Given the description of an element on the screen output the (x, y) to click on. 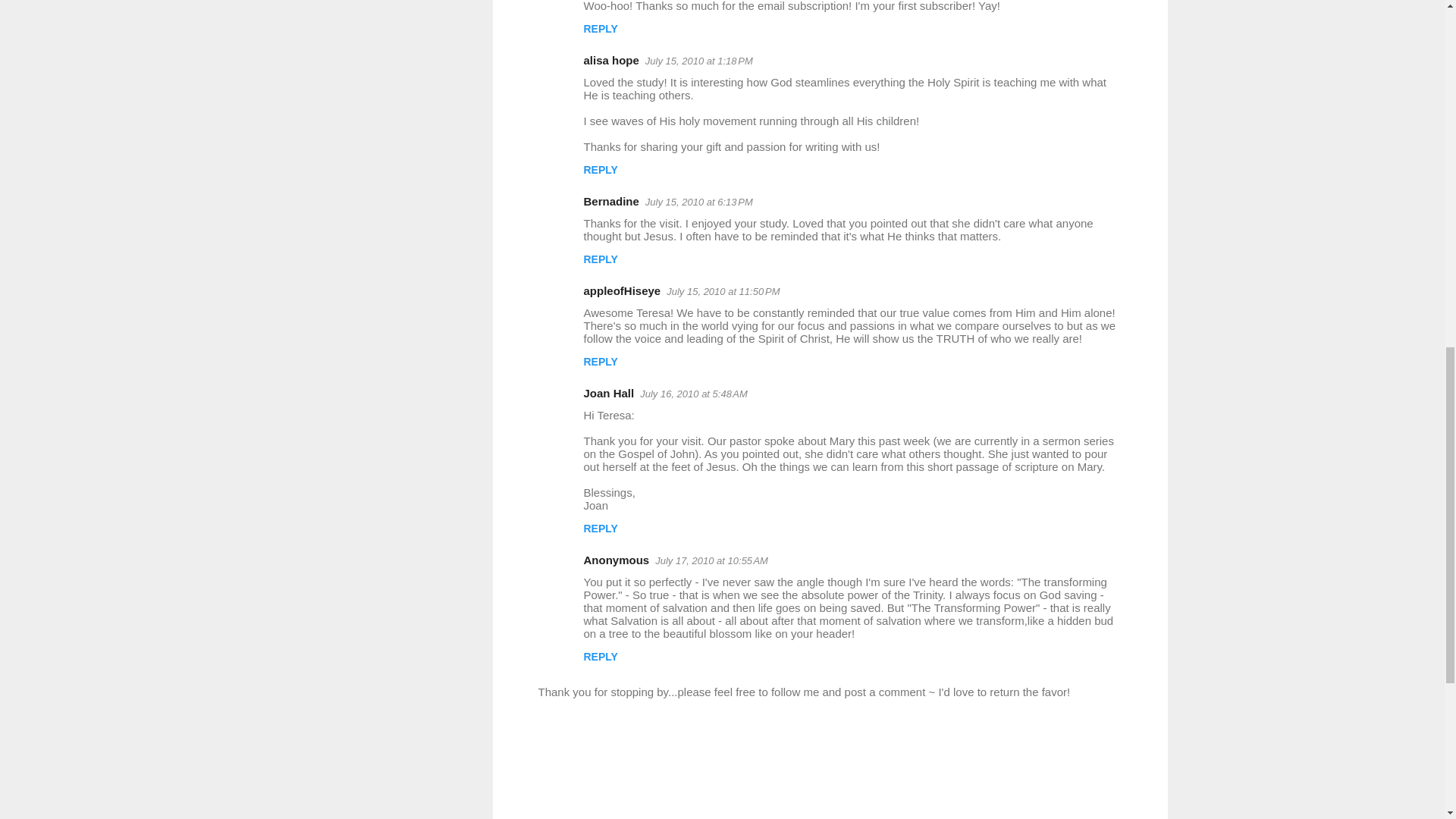
REPLY (600, 28)
REPLY (600, 169)
alisa hope (611, 60)
